Given the description of an element on the screen output the (x, y) to click on. 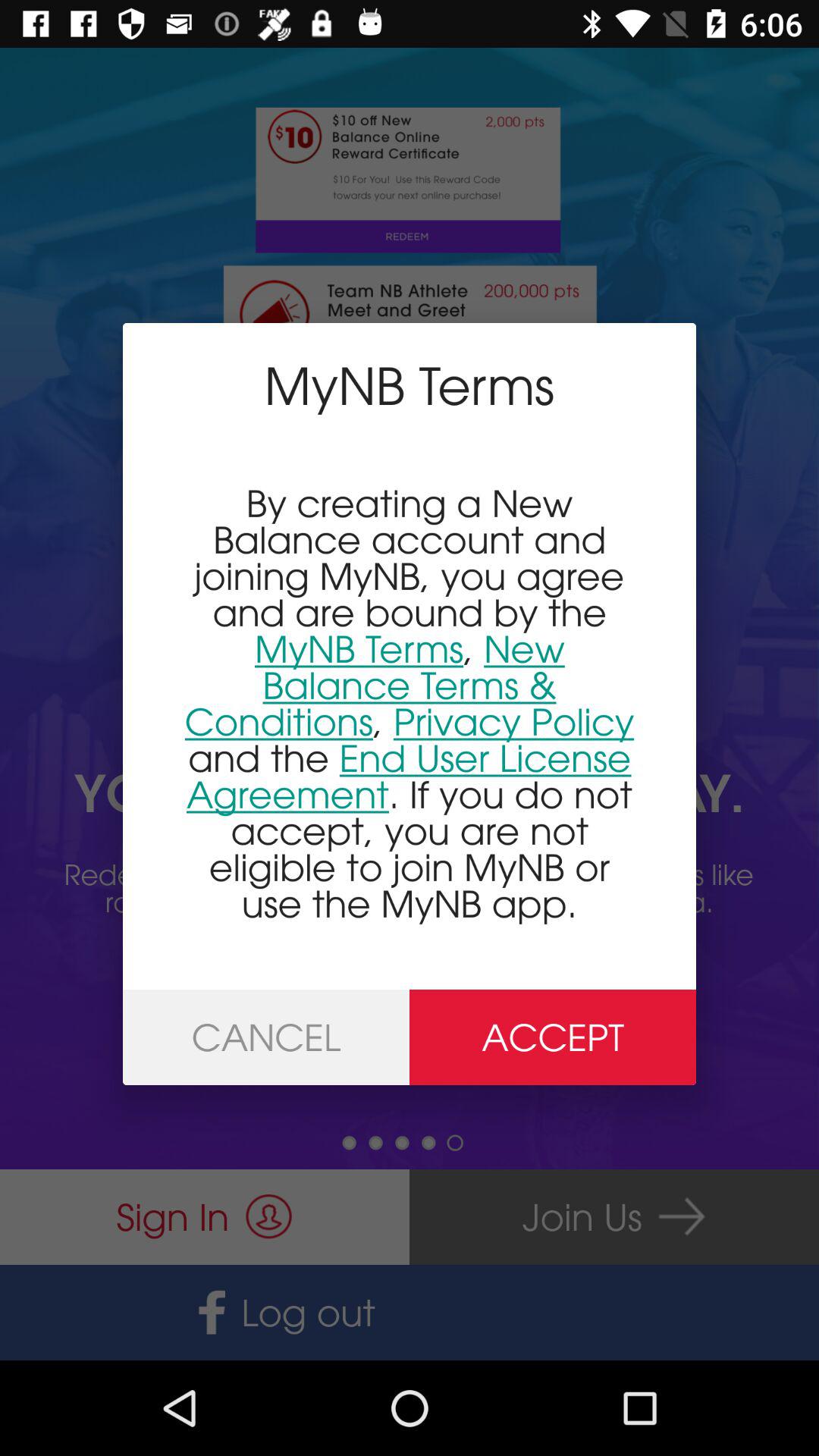
click item below by creating a (552, 1037)
